Given the description of an element on the screen output the (x, y) to click on. 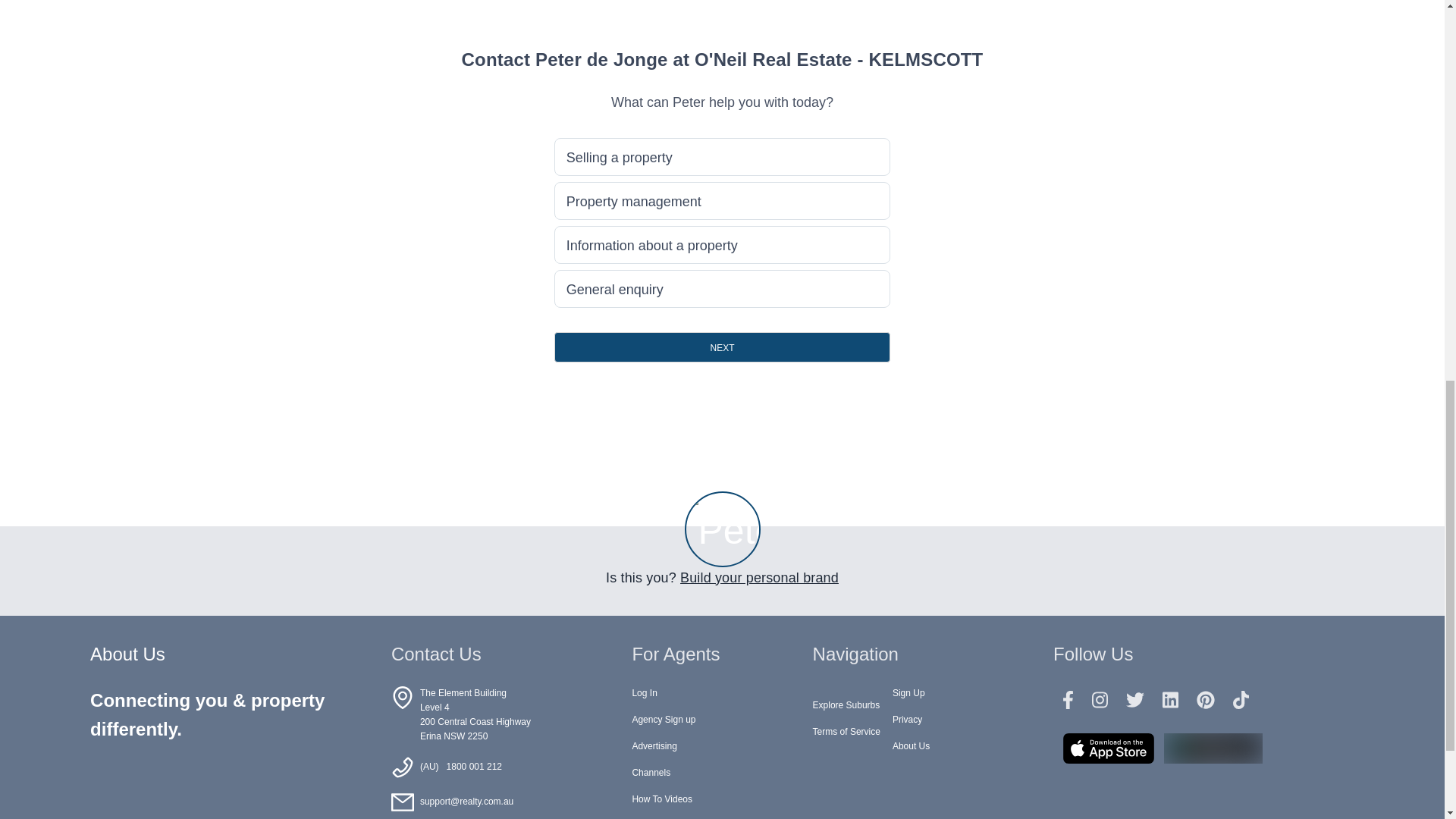
Terms of Service (846, 731)
Realty Twitter (1134, 700)
Channels (650, 772)
Privacy (906, 719)
Log In (643, 693)
NEXT (722, 347)
Realty LinkedIn (1170, 700)
Explore Suburbs (846, 705)
Realty Tiktok (1240, 700)
